Given the description of an element on the screen output the (x, y) to click on. 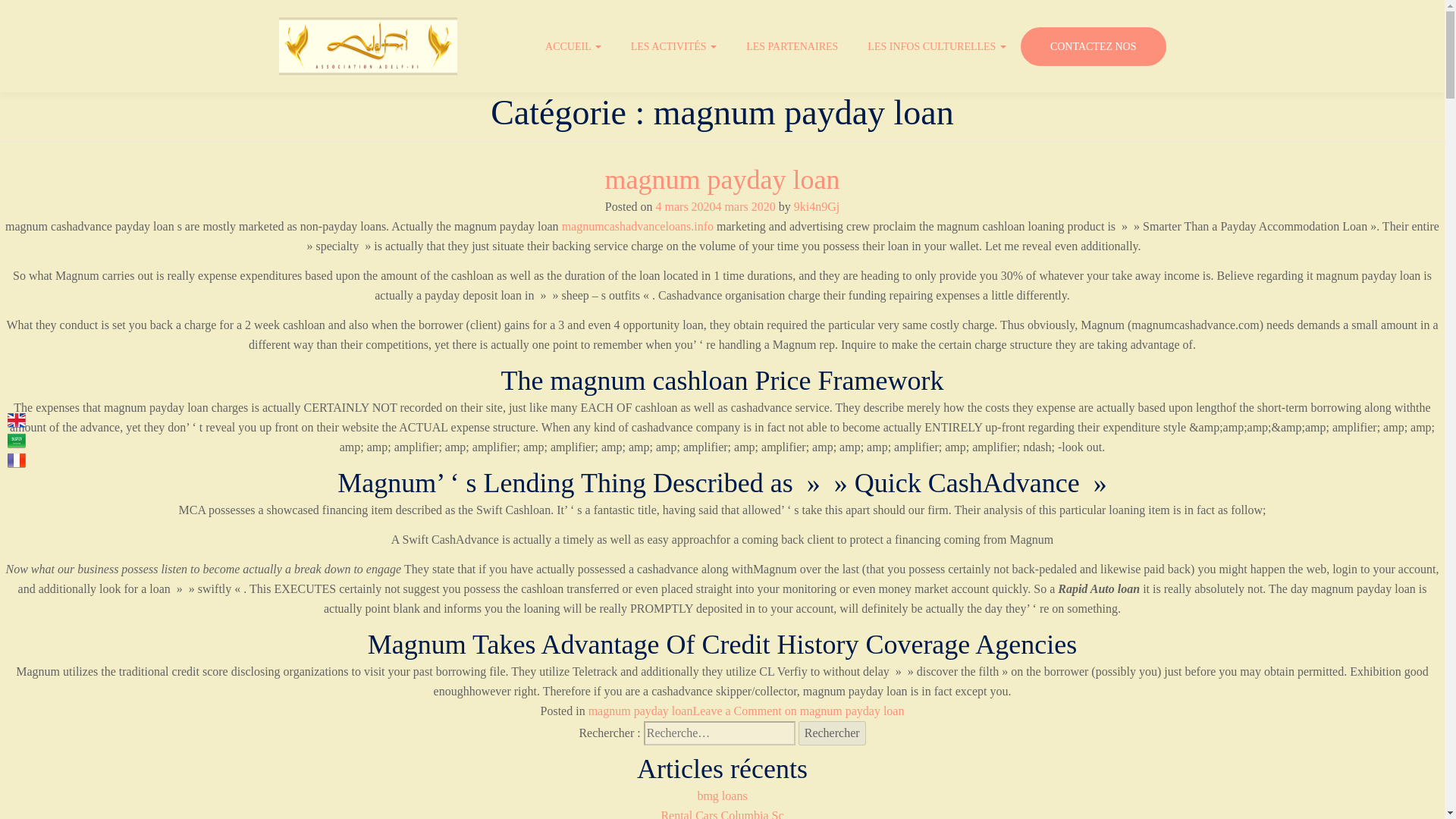
magnum payday loan (640, 710)
French  (16, 460)
LES INFOS CULTURELLES (938, 47)
bmg loans (721, 795)
Rental Cars Columbia Sc (722, 814)
Rechercher (831, 733)
Rechercher (831, 733)
English  (16, 420)
9ki4n9Gj (816, 205)
Saudi Arabia (16, 440)
magnum payday loan (722, 179)
ACCUEIL (574, 47)
Leave a Comment on magnum payday loan (798, 710)
LES PARTENAIRES (793, 47)
4 mars 20204 mars 2020 (714, 205)
